Given the description of an element on the screen output the (x, y) to click on. 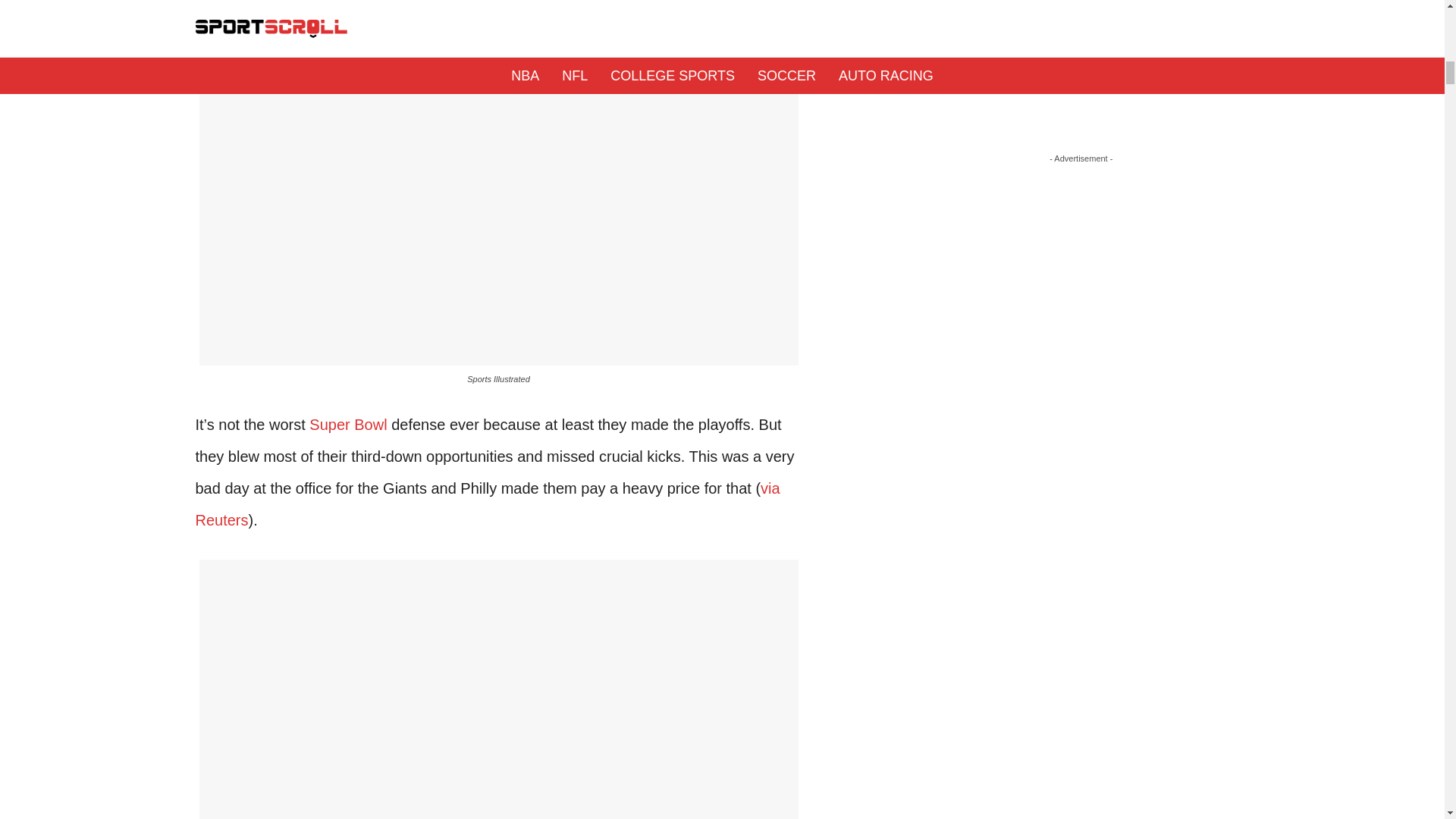
Super Bowl (347, 424)
via Reuters (487, 503)
